Given the description of an element on the screen output the (x, y) to click on. 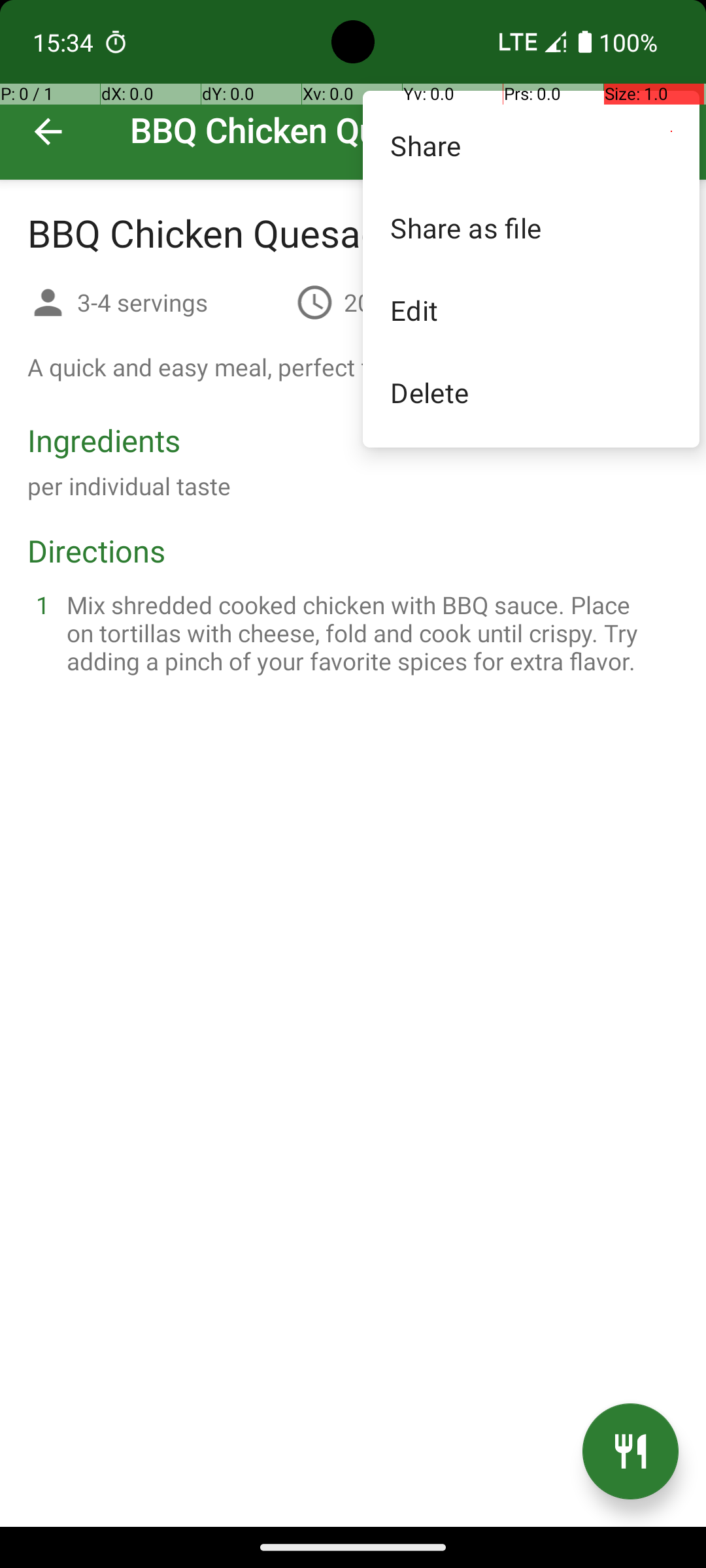
Share as file Element type: android.widget.TextView (531, 227)
